Given the description of an element on the screen output the (x, y) to click on. 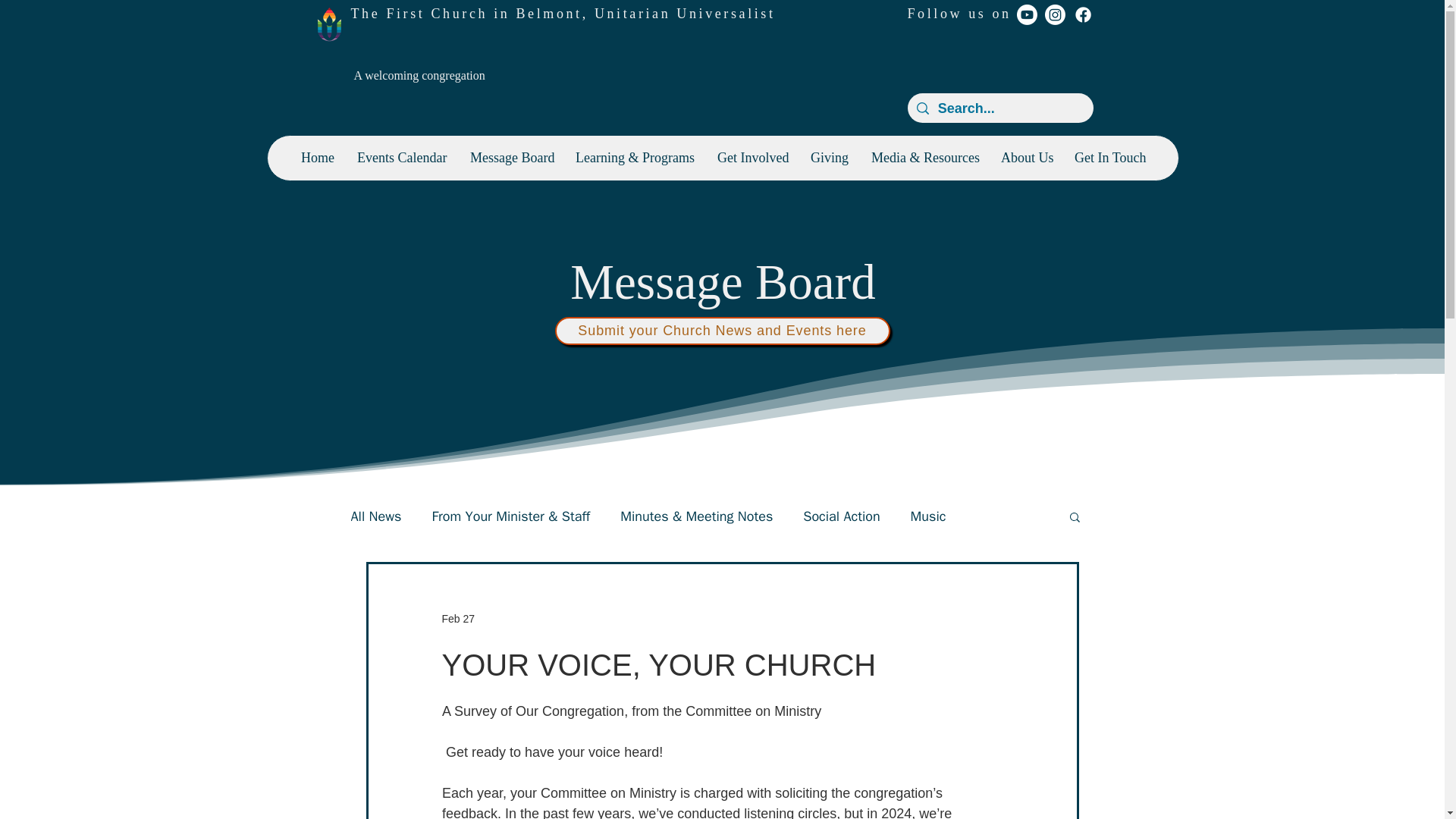
Feb 27 (457, 618)
The (367, 13)
Home (316, 157)
Message Board (510, 157)
Follow us on (958, 13)
First Church in Belmont, Unitarian Universalist (579, 13)
Events Calendar (401, 157)
